Given the description of an element on the screen output the (x, y) to click on. 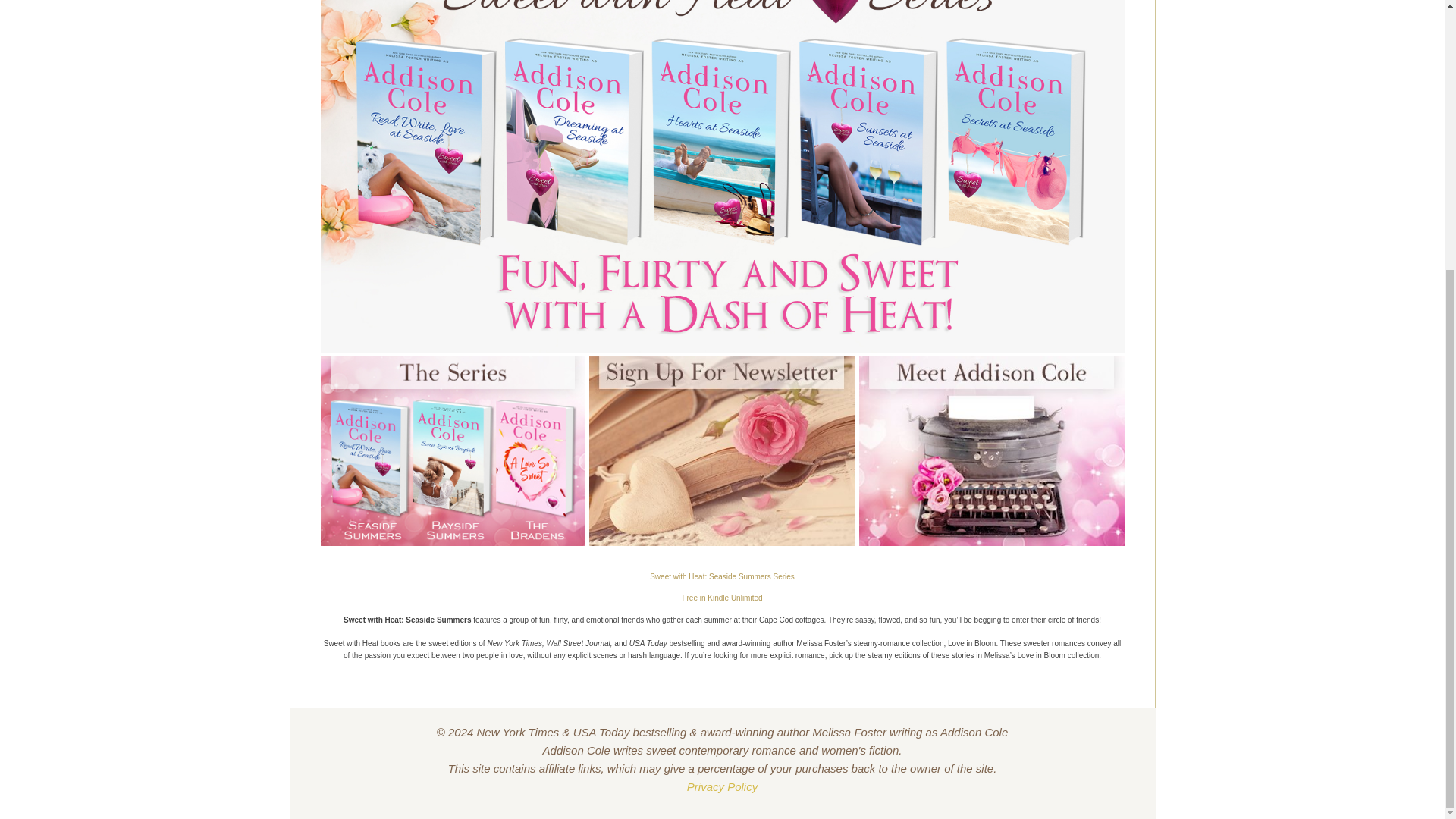
Meet Addison Cole (991, 450)
Sign up for Addison's newsletter (721, 450)
Privacy Policy (722, 786)
